Given the description of an element on the screen output the (x, y) to click on. 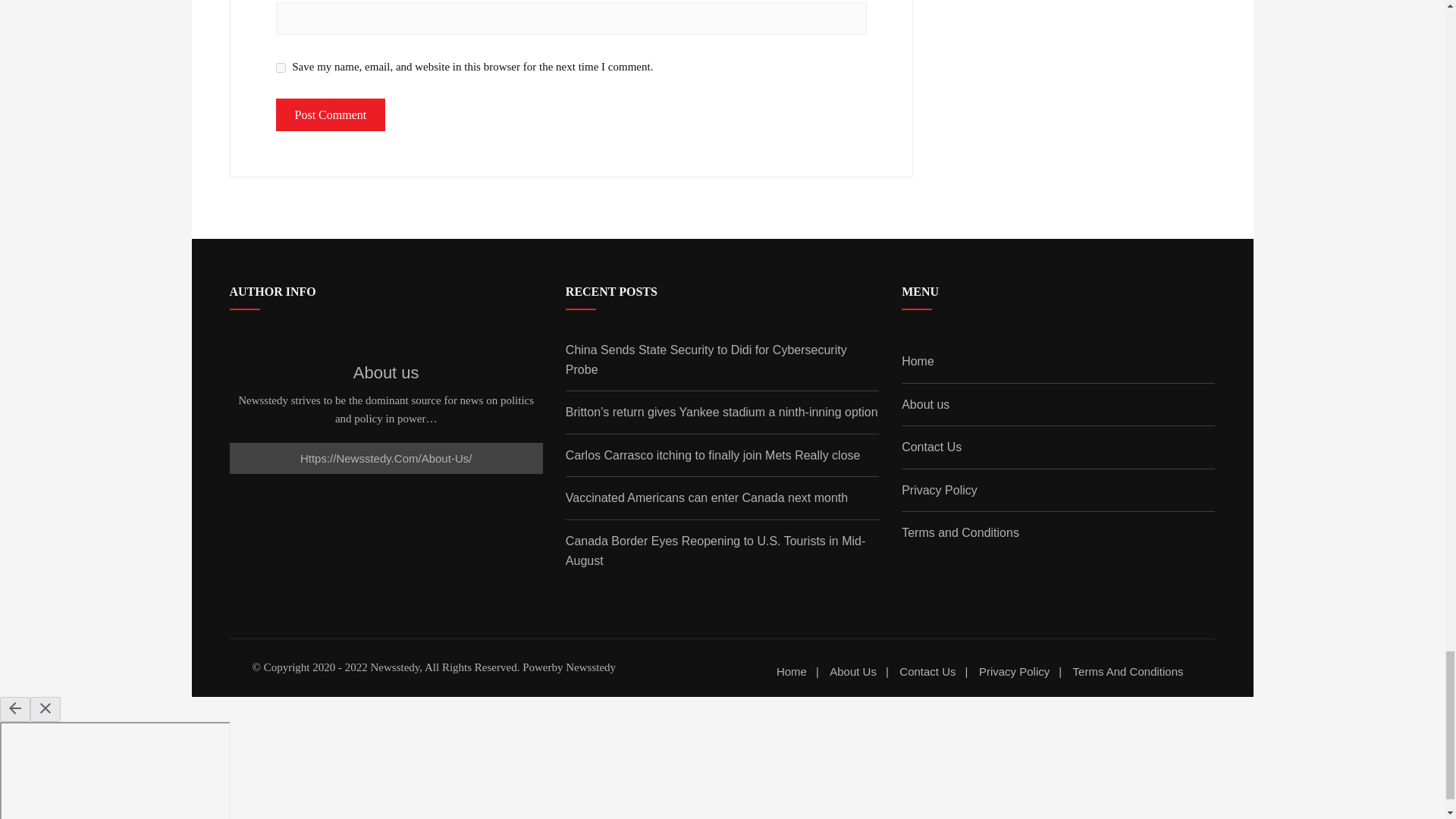
yes (280, 67)
Post Comment (330, 114)
